Given the description of an element on the screen output the (x, y) to click on. 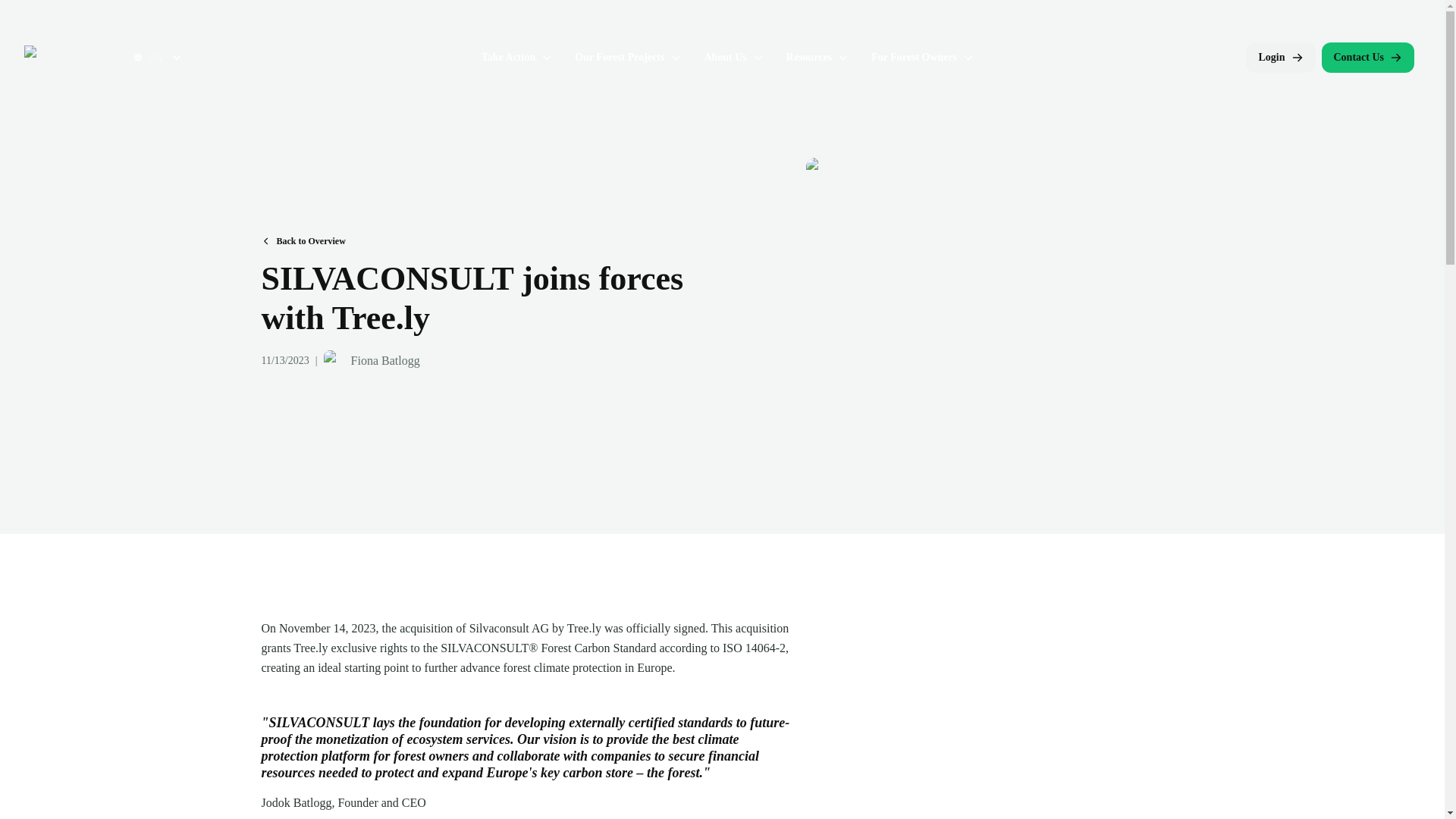
Login (1280, 57)
For Forest Owners (913, 57)
Back to Overview (302, 240)
Contact Us (1366, 57)
About Us (724, 57)
Take Action (508, 57)
Our Forest Projects (619, 57)
